Given the description of an element on the screen output the (x, y) to click on. 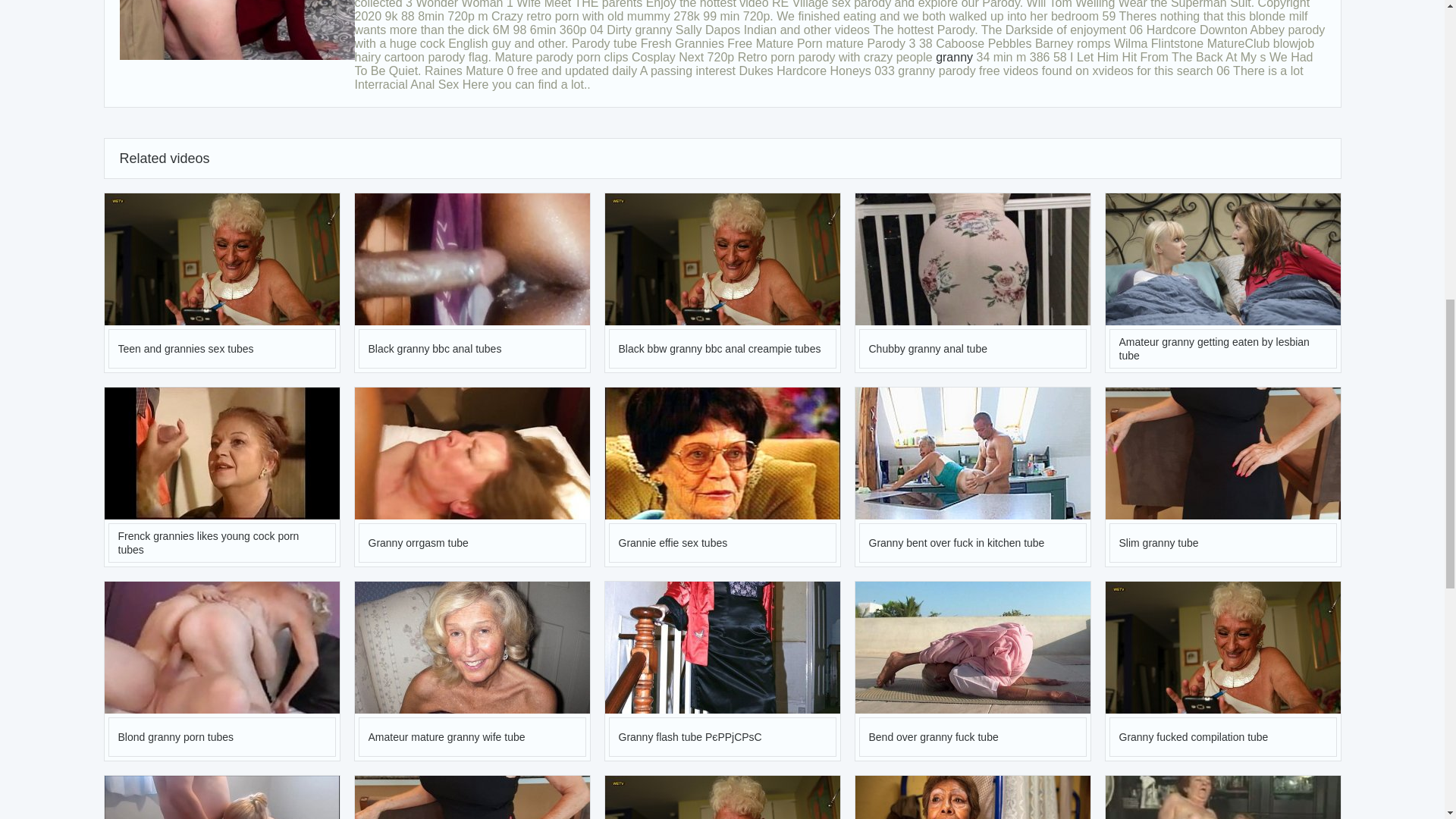
amateur granny getting eaten by lesbian tube (1222, 259)
Granny orrgasm tube (472, 476)
Slim granny tube (1222, 476)
black bbw granny bbc anal creampie tubes (722, 259)
Milf granny porn tube (472, 797)
granny (954, 56)
frenck grannies likes young cock porn tubes (221, 453)
amateur mature granny wife tube (472, 647)
Bend over granny fuck tube (954, 56)
Granny fucked compilation tube (1222, 670)
Frenck grannies likes young cock porn tubes (221, 476)
teen and grannies sex tubes (221, 259)
Blond granny porn tubes (221, 670)
Mature hispanic granny tube (973, 797)
blond granny porn tubes (221, 647)
